Given the description of an element on the screen output the (x, y) to click on. 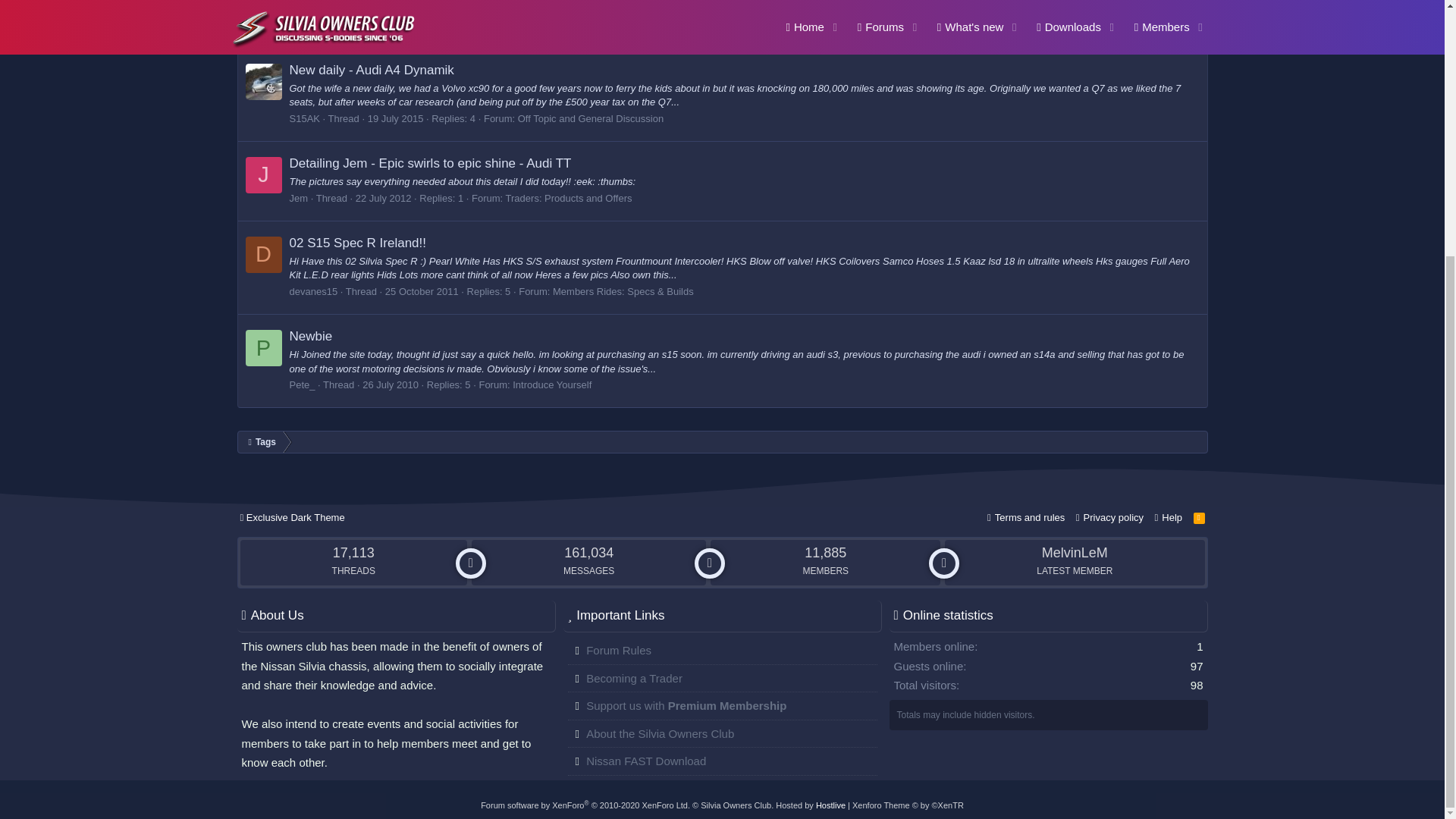
9 February 2016 at 8:51 AM (406, 25)
25 October 2011 at 12:37 AM (421, 291)
22 July 2012 at 9:32 PM (383, 197)
RSS (1199, 517)
26 July 2010 at 7:03 PM (390, 384)
19 July 2015 at 9:32 PM (395, 118)
